Given the description of an element on the screen output the (x, y) to click on. 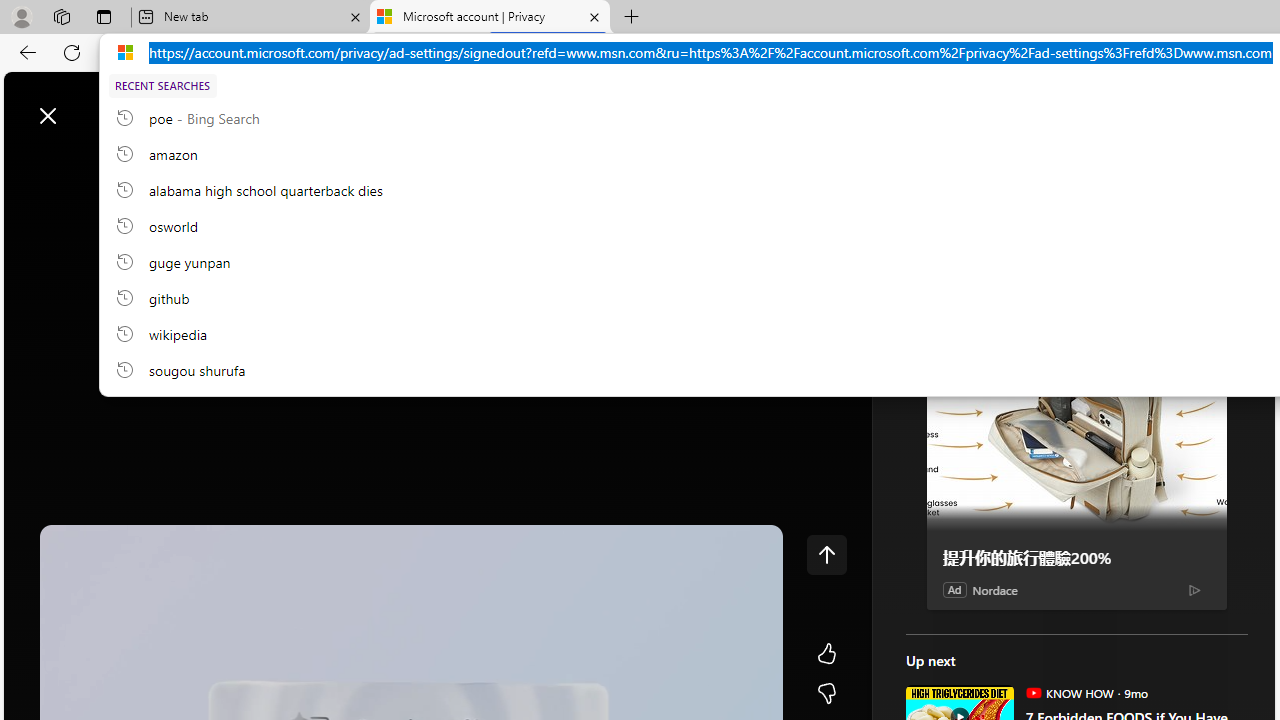
Like (826, 653)
Collapse (826, 115)
Skip to footer (82, 105)
Microsoft rewards (1151, 105)
